Given the description of an element on the screen output the (x, y) to click on. 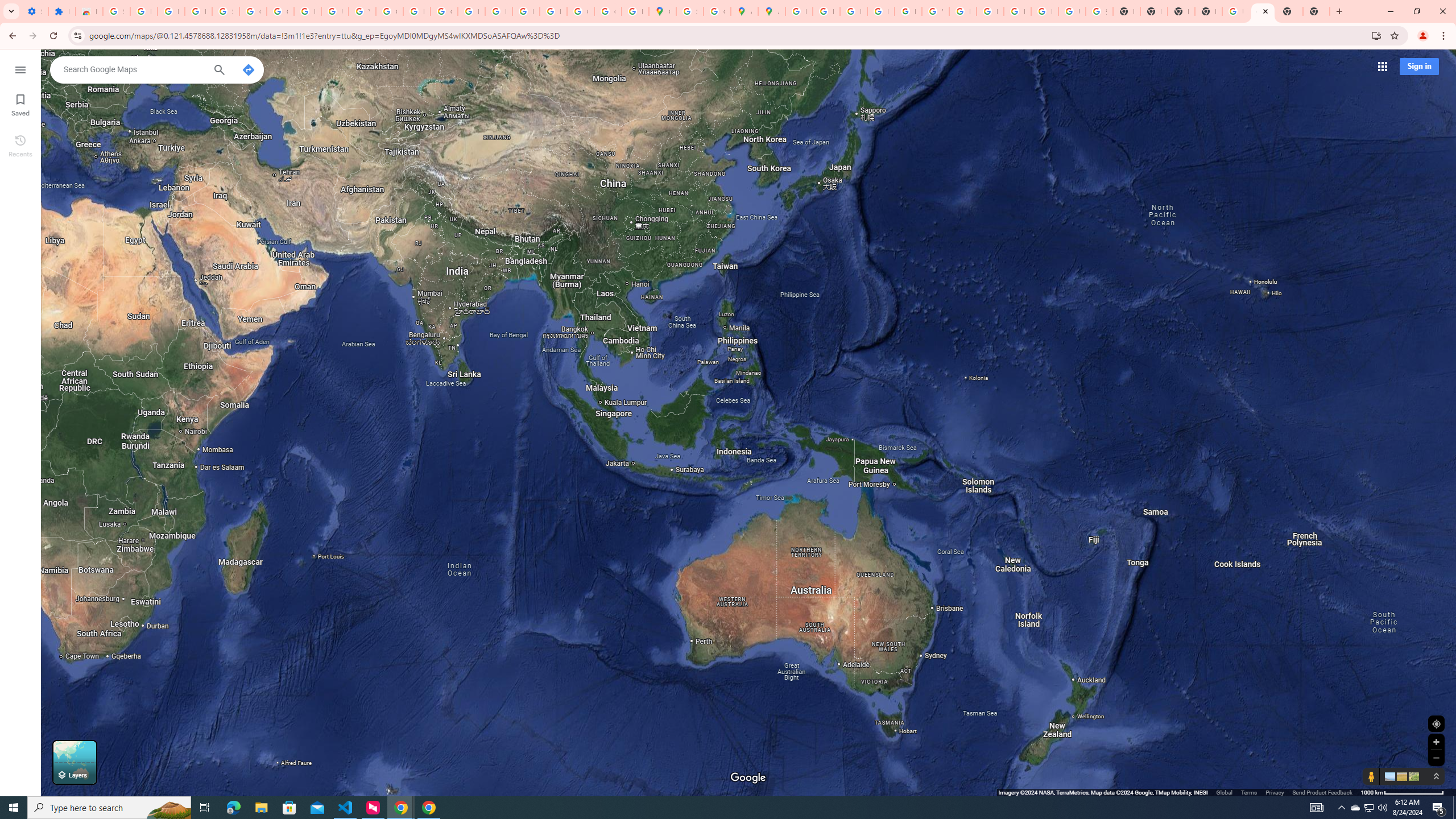
Privacy Help Center - Policies Help (853, 11)
Create your Google Account (716, 11)
Google Maps (662, 11)
Google apps (1381, 66)
New Tab (1208, 11)
1000 km (1401, 792)
YouTube (935, 11)
Directions (247, 69)
Use Google Maps in Space - Google Maps Help (1236, 11)
Show imagery (1412, 776)
